Given the description of an element on the screen output the (x, y) to click on. 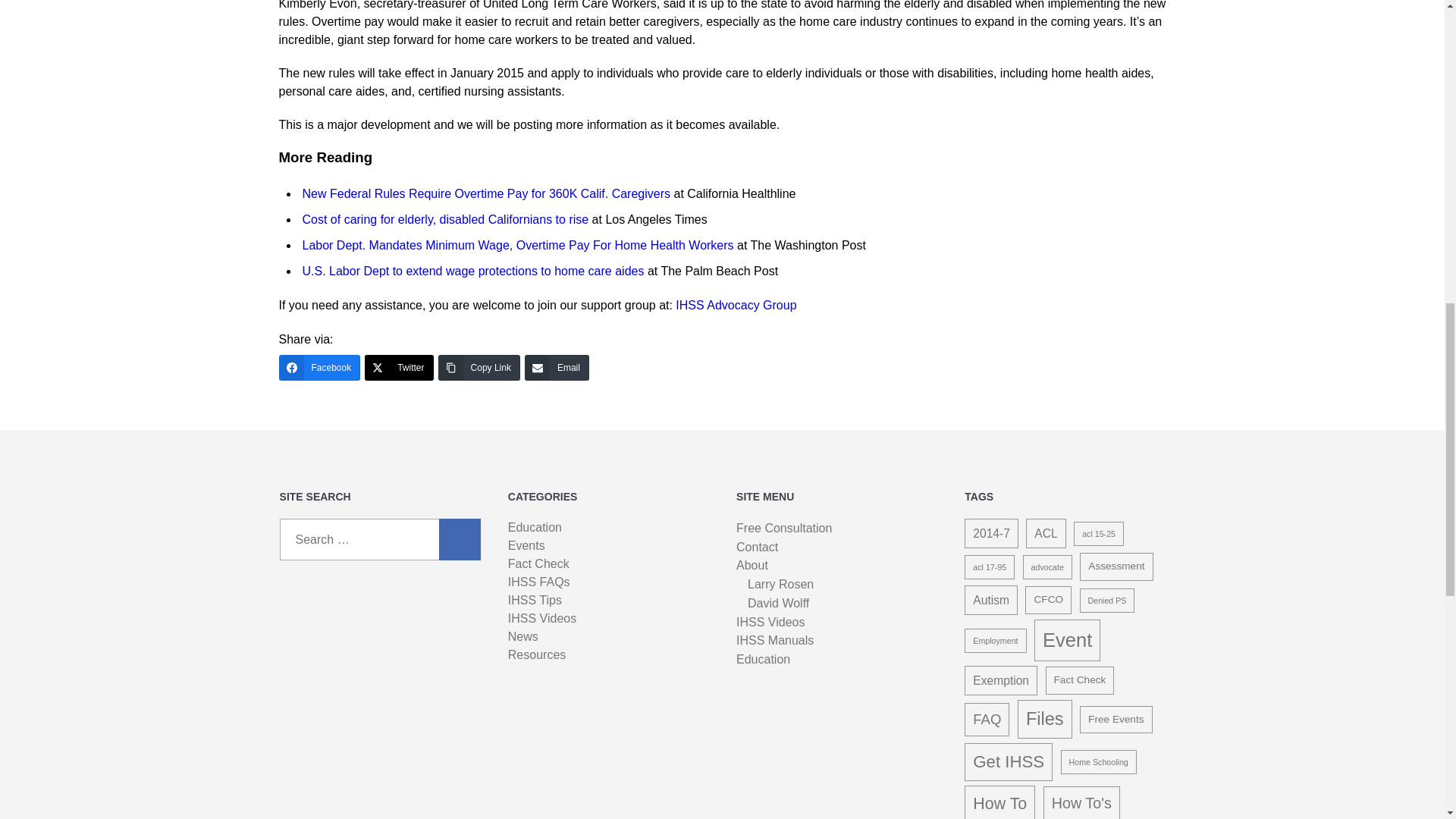
Education (763, 659)
Email (556, 367)
Cost of caring for elderly, disabled Californians to rise (444, 219)
IHSS Videos (770, 622)
Contact (756, 547)
2014-7 (990, 532)
acl 15-25 (1099, 533)
Facebook (320, 367)
Twitter (398, 367)
ACL (1045, 532)
David Wolff (778, 603)
About (752, 565)
Events related to IHSS (526, 546)
